Given the description of an element on the screen output the (x, y) to click on. 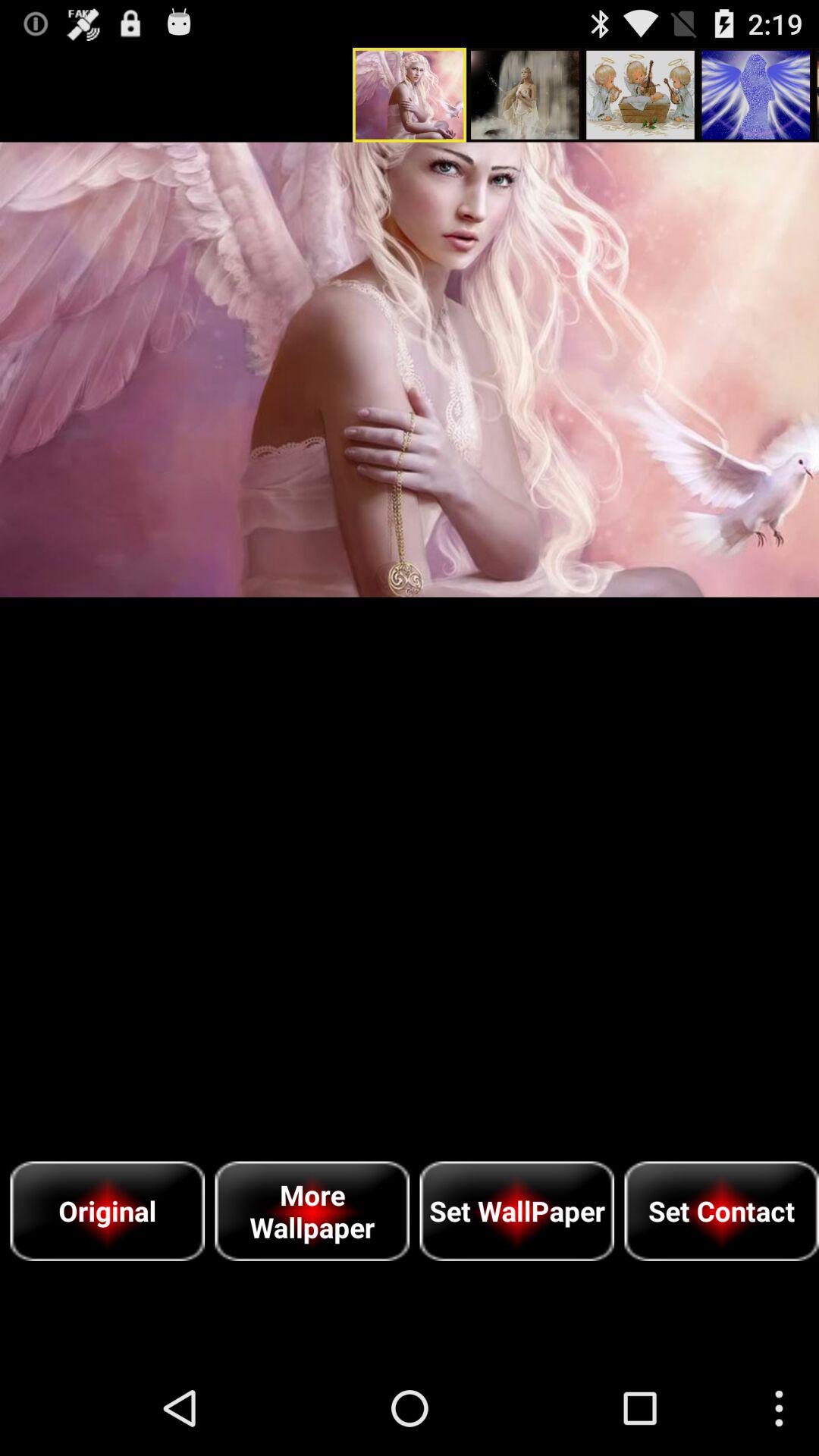
click the item to the left of the set contact icon (516, 1210)
